Given the description of an element on the screen output the (x, y) to click on. 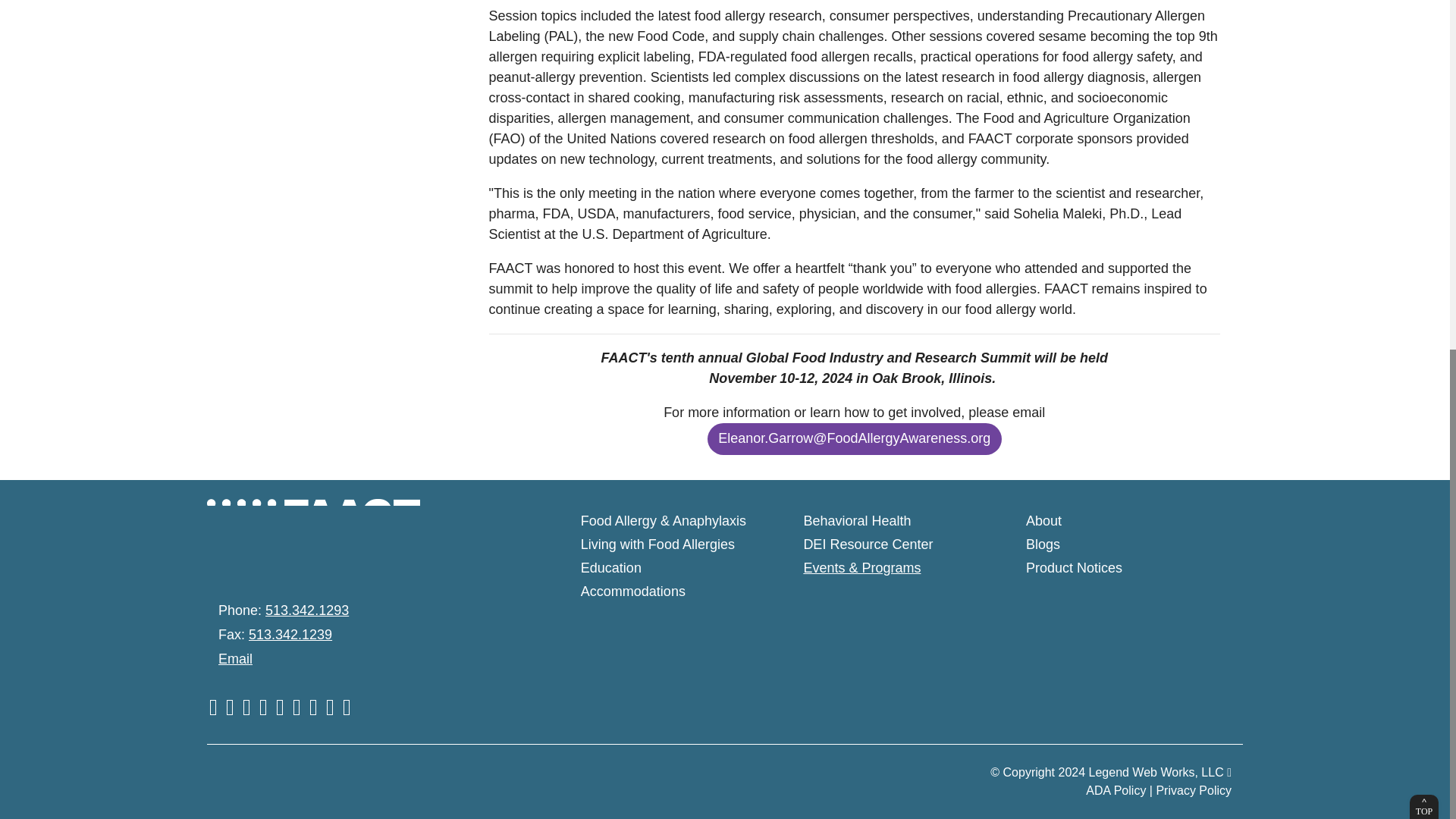
Footer Navigation Column 3 (1120, 546)
Footer Navigation Column 2 (897, 546)
Footer Navigation Column 1 (674, 546)
